Given the description of an element on the screen output the (x, y) to click on. 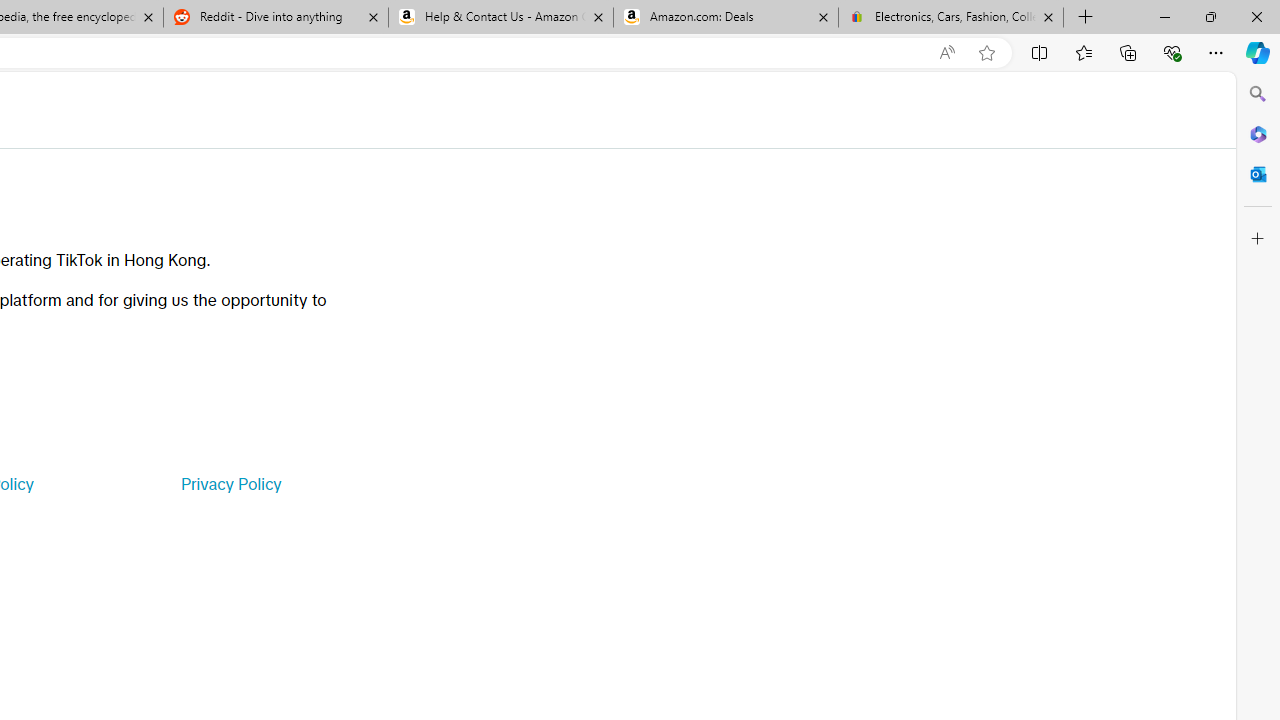
Privacy Policy (230, 484)
